Given the description of an element on the screen output the (x, y) to click on. 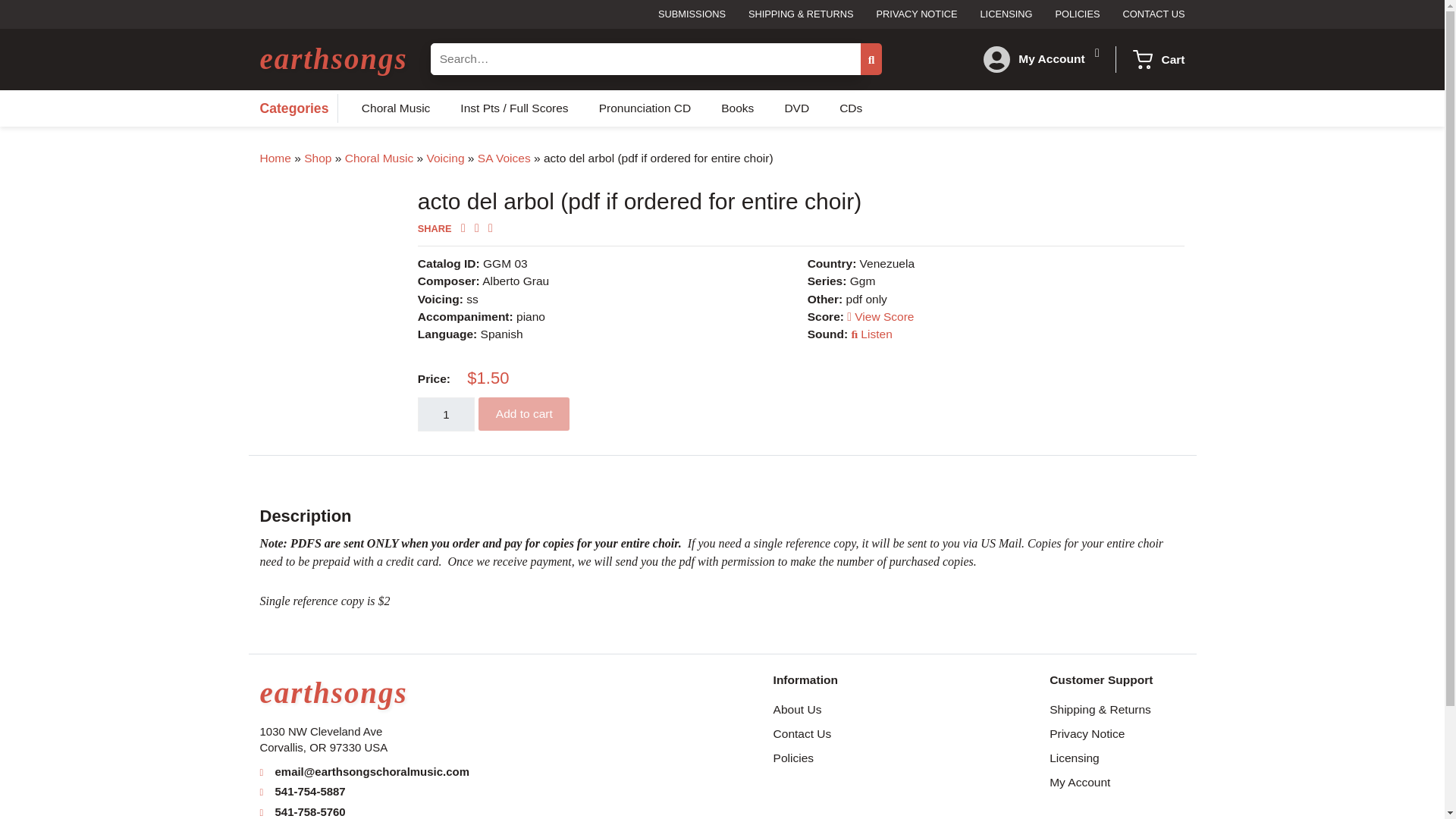
POLICIES (1076, 14)
Choral Music (395, 108)
541-758-5760 (310, 811)
Cart (1172, 59)
CONTACT US (1148, 14)
DVD (796, 108)
My Account (1061, 58)
SUBMISSIONS (691, 14)
Pronunciation CD (644, 108)
Choral Music (379, 157)
1 (445, 414)
Voicing (445, 157)
SA Voices (504, 157)
PRIVACY NOTICE (916, 14)
View Score (880, 316)
